Given the description of an element on the screen output the (x, y) to click on. 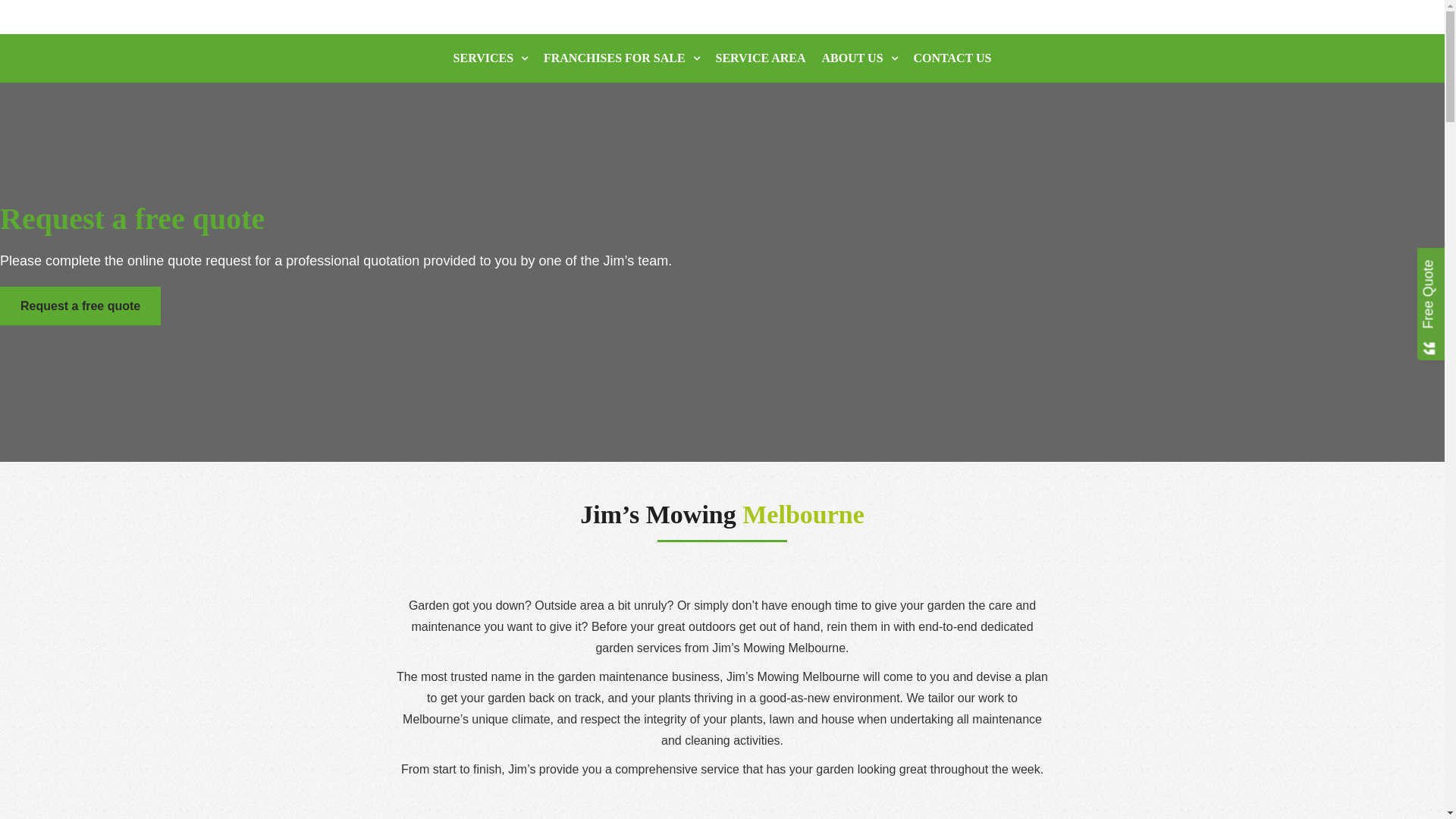
Request a free quote Element type: text (80, 305)
Search Element type: text (102, 15)
SERVICES Element type: text (489, 57)
SERVICE AREA Element type: text (760, 57)
1300 260 785 Element type: text (1096, 58)
ABOUT US Element type: text (859, 57)
Search for: Element type: hover (402, 50)
FRANCHISES FOR SALE Element type: text (621, 57)
CONTACT US Element type: text (951, 57)
